Given the description of an element on the screen output the (x, y) to click on. 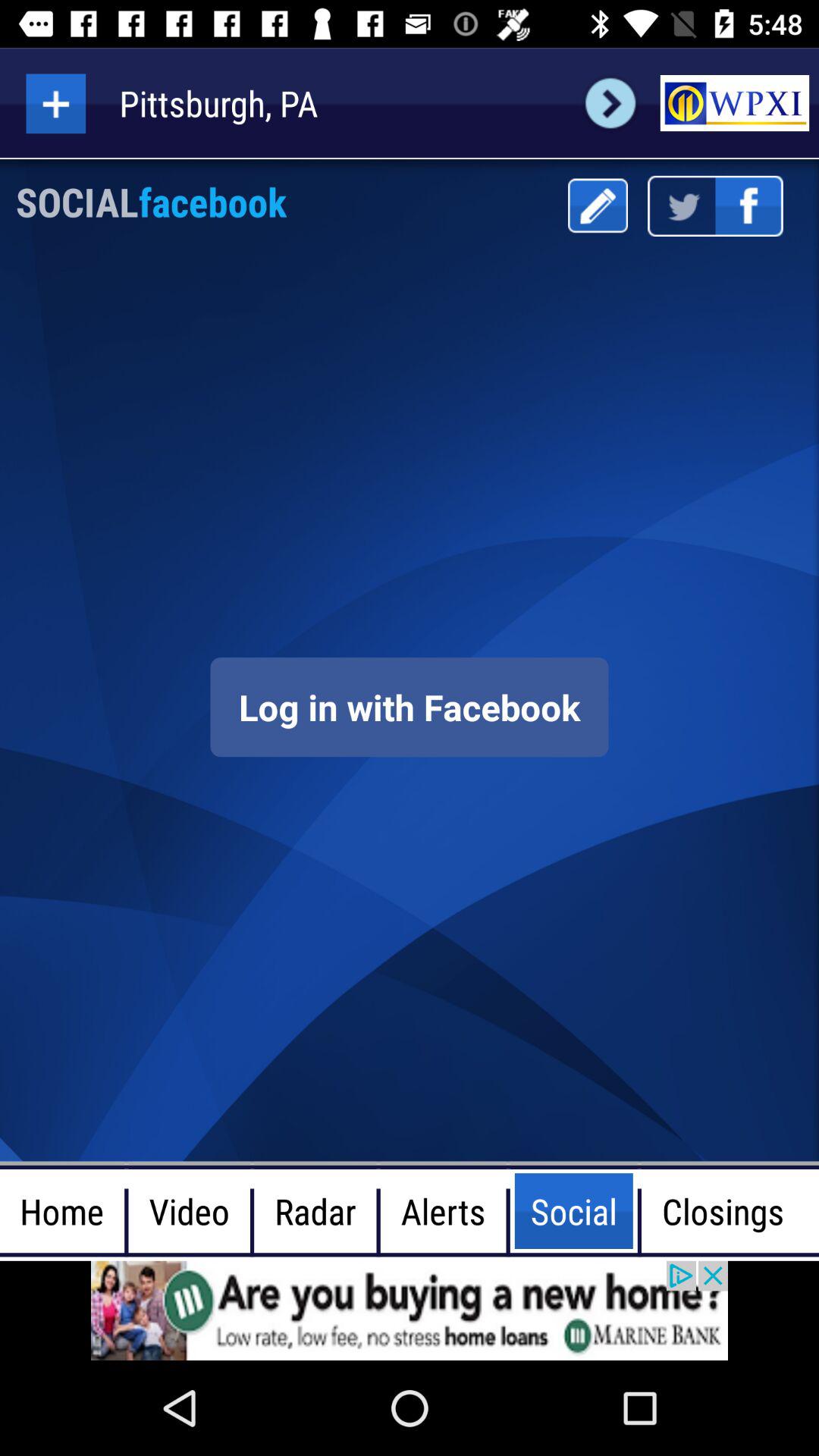
go to add option (55, 103)
